Given the description of an element on the screen output the (x, y) to click on. 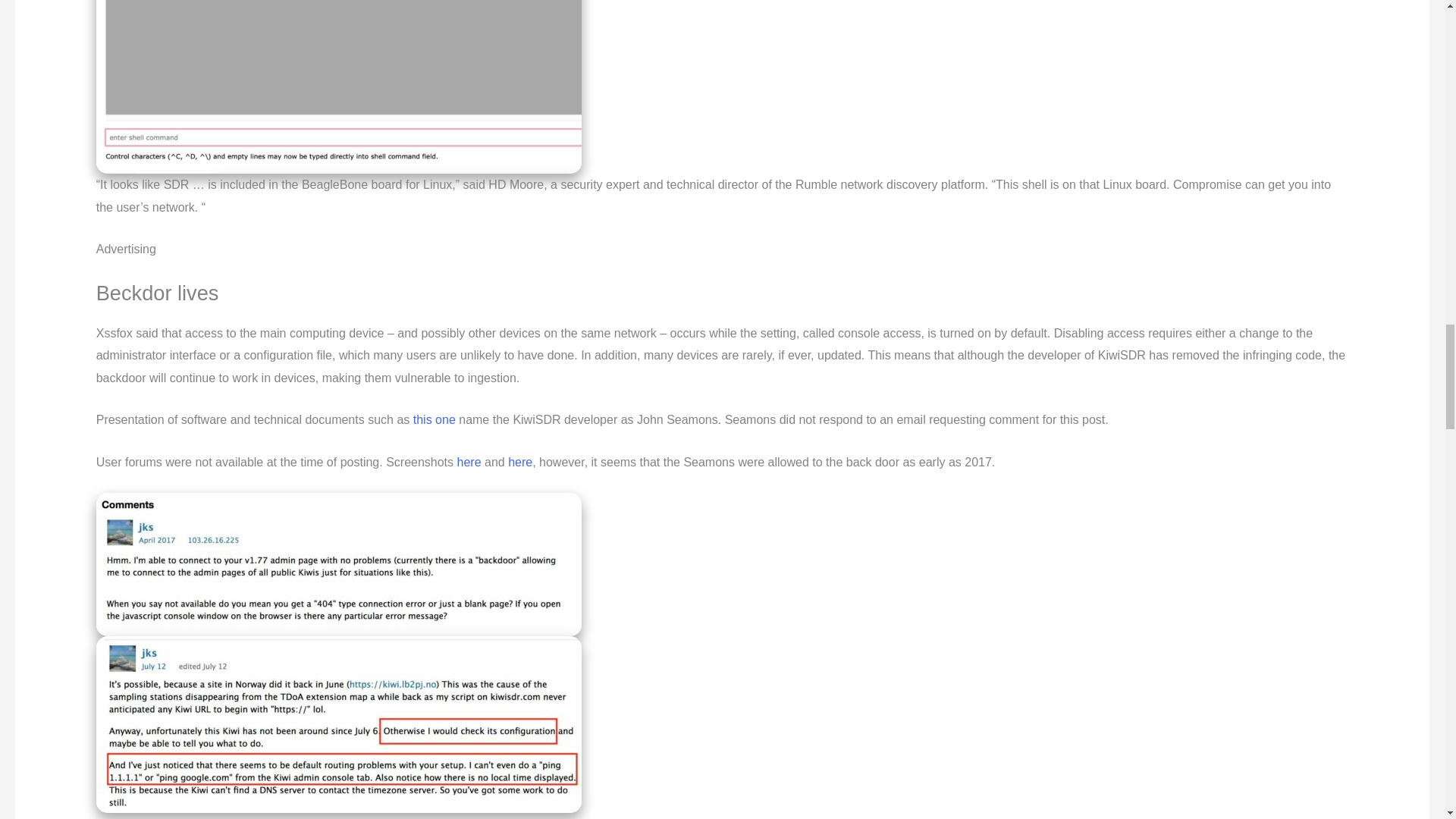
here (520, 461)
here (469, 461)
this one (434, 419)
noted (371, 818)
Mark Jesop (526, 818)
